Given the description of an element on the screen output the (x, y) to click on. 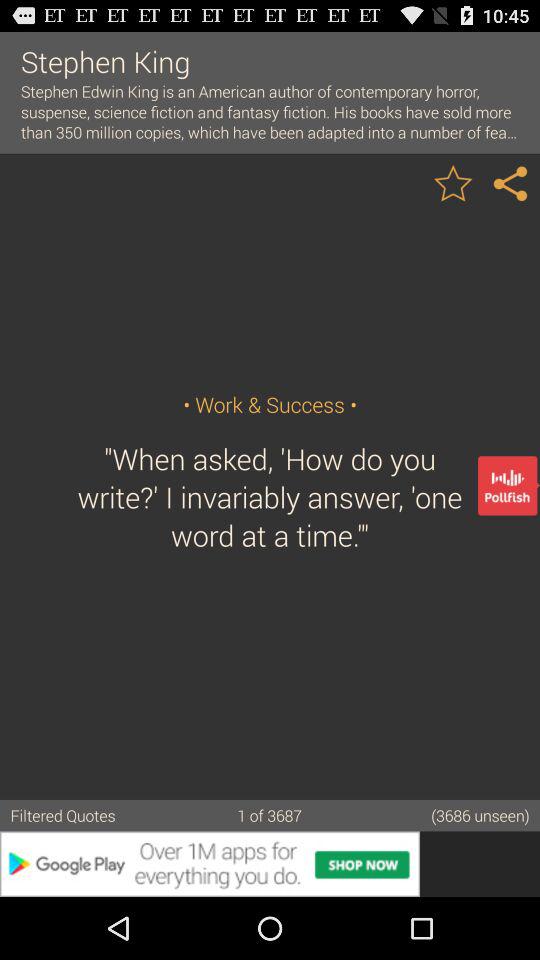
share (511, 182)
